Given the description of an element on the screen output the (x, y) to click on. 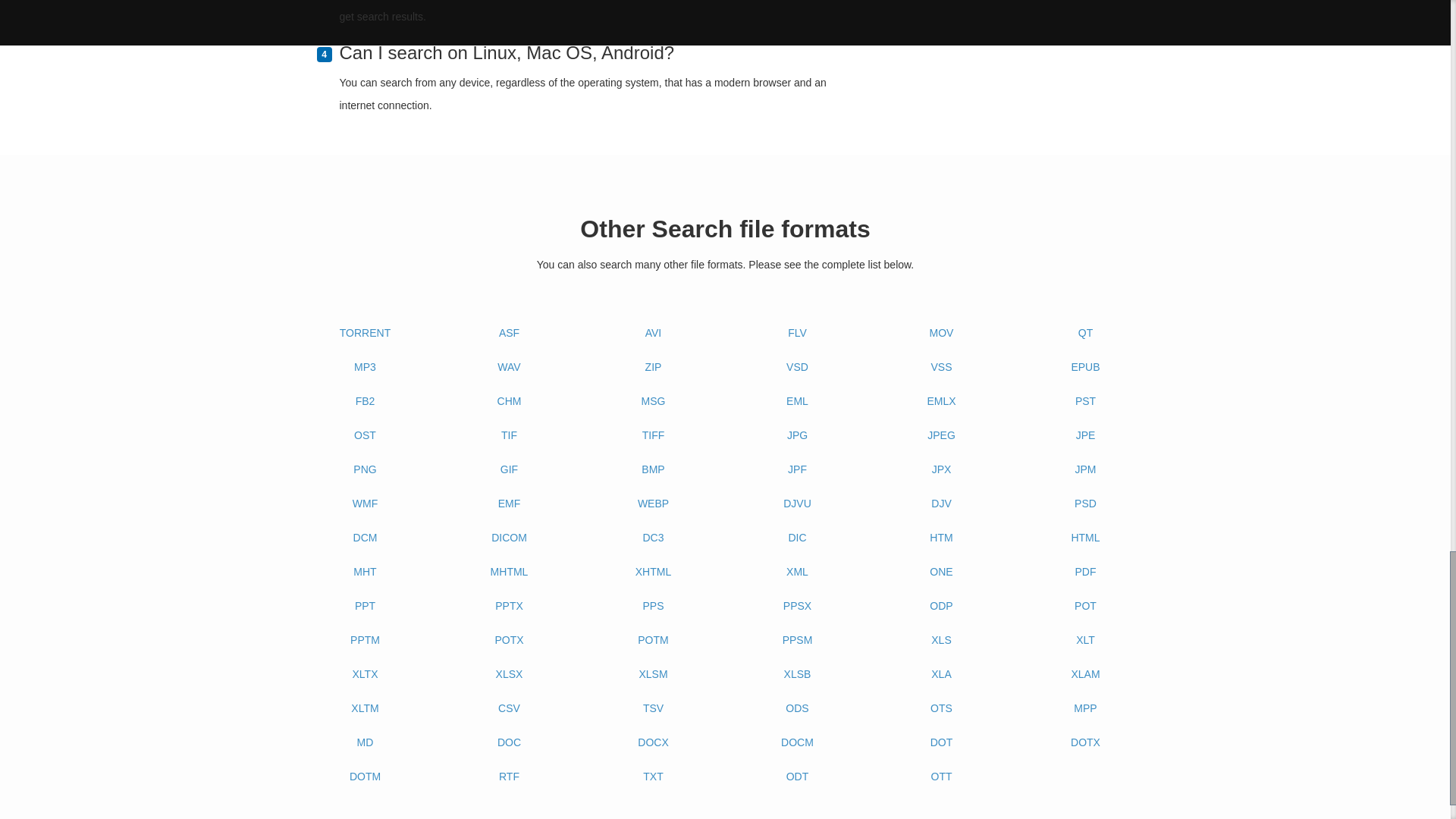
PST (1086, 401)
FB2 (365, 401)
ZIP (653, 367)
MOV (941, 333)
EML (797, 401)
MP3 (365, 367)
VSS (941, 367)
AVI (653, 333)
EPUB (1086, 367)
VSD (797, 367)
